Given the description of an element on the screen output the (x, y) to click on. 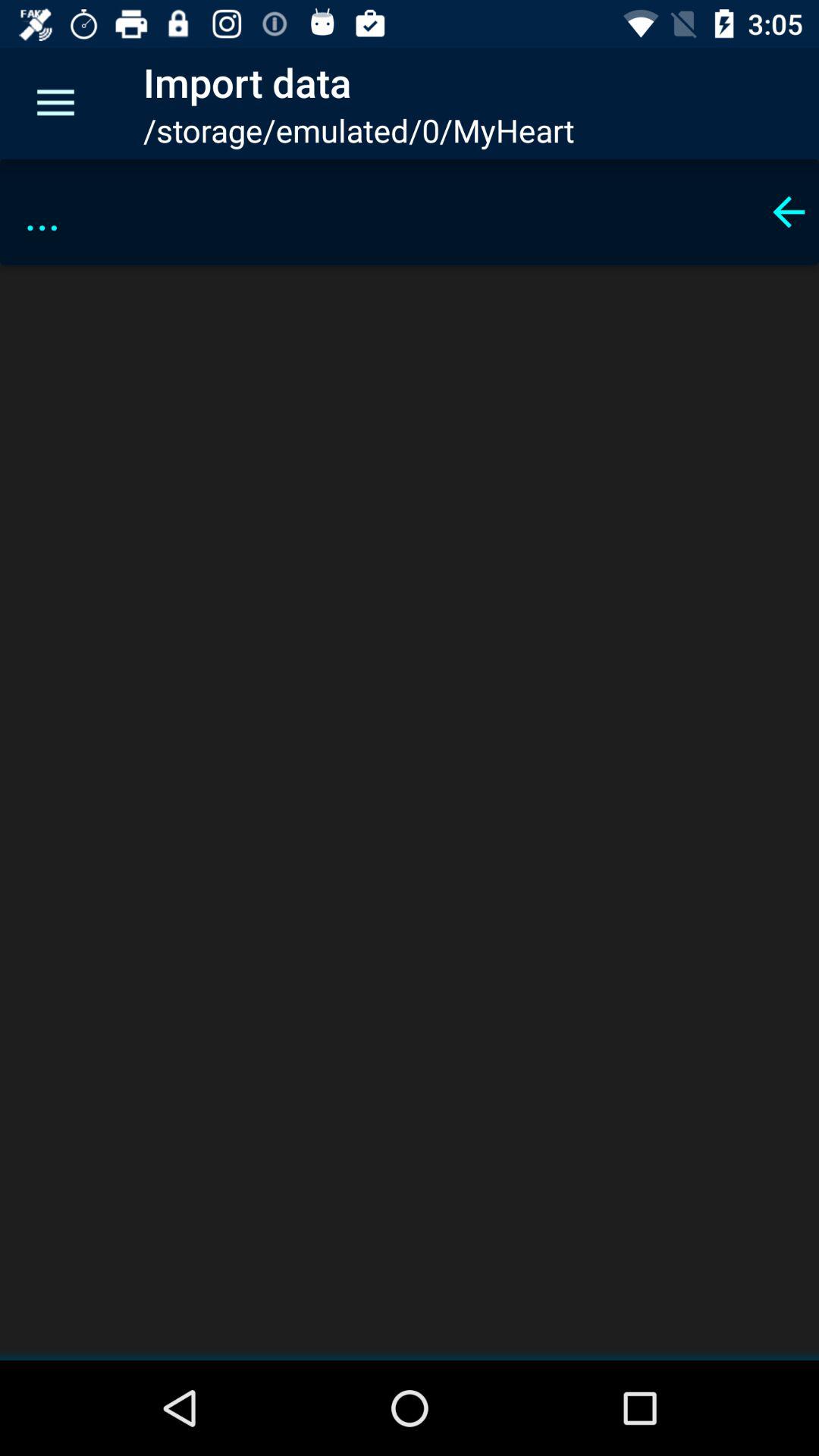
choose icon above the ... (55, 103)
